Given the description of an element on the screen output the (x, y) to click on. 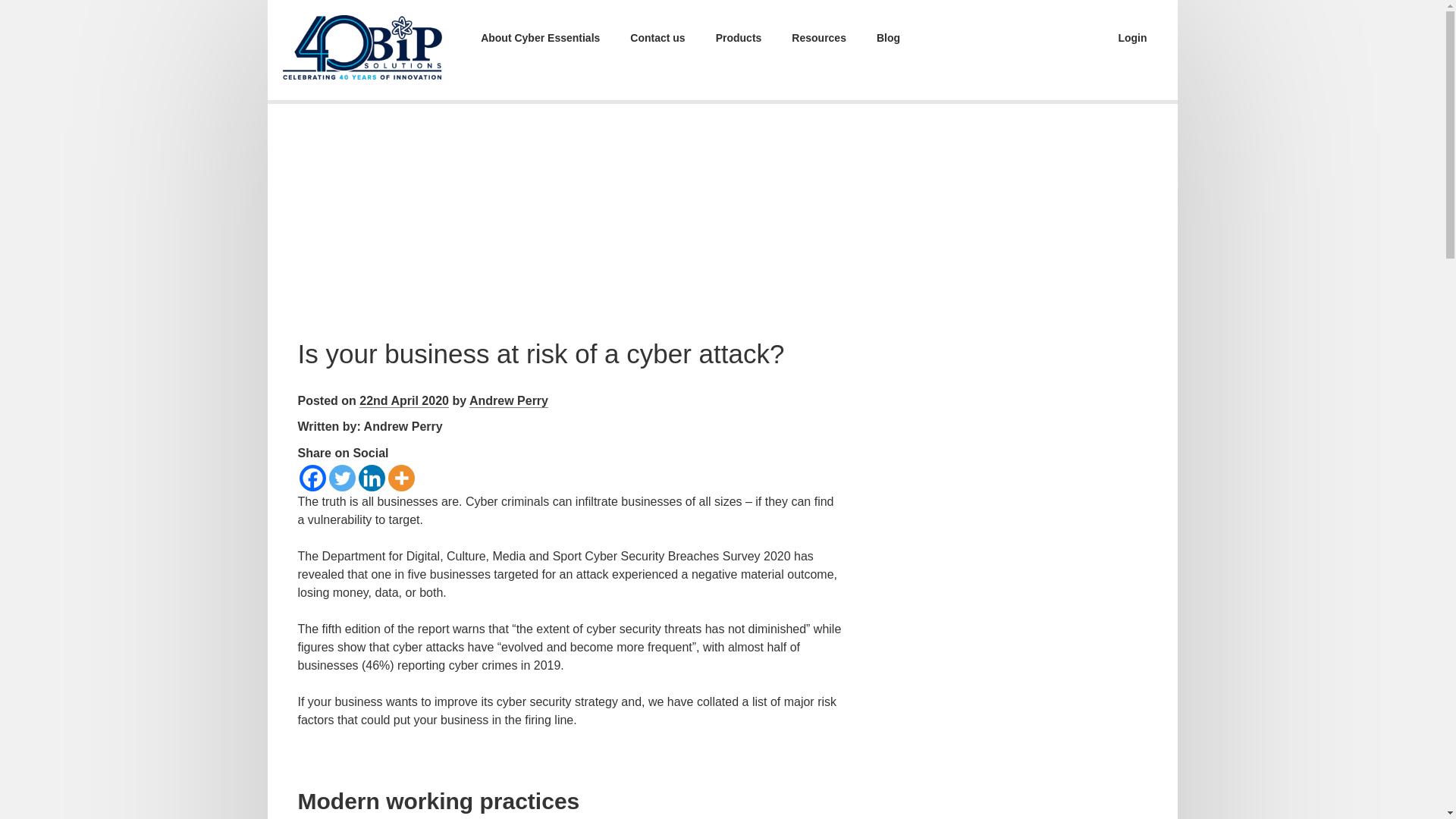
Login (1131, 38)
Blog (888, 38)
Products (738, 38)
Twitter (342, 478)
Andrew Perry (508, 400)
Login (1131, 38)
Contact us (657, 38)
Linkedin (371, 478)
More (401, 478)
Facebook (311, 478)
